Given the description of an element on the screen output the (x, y) to click on. 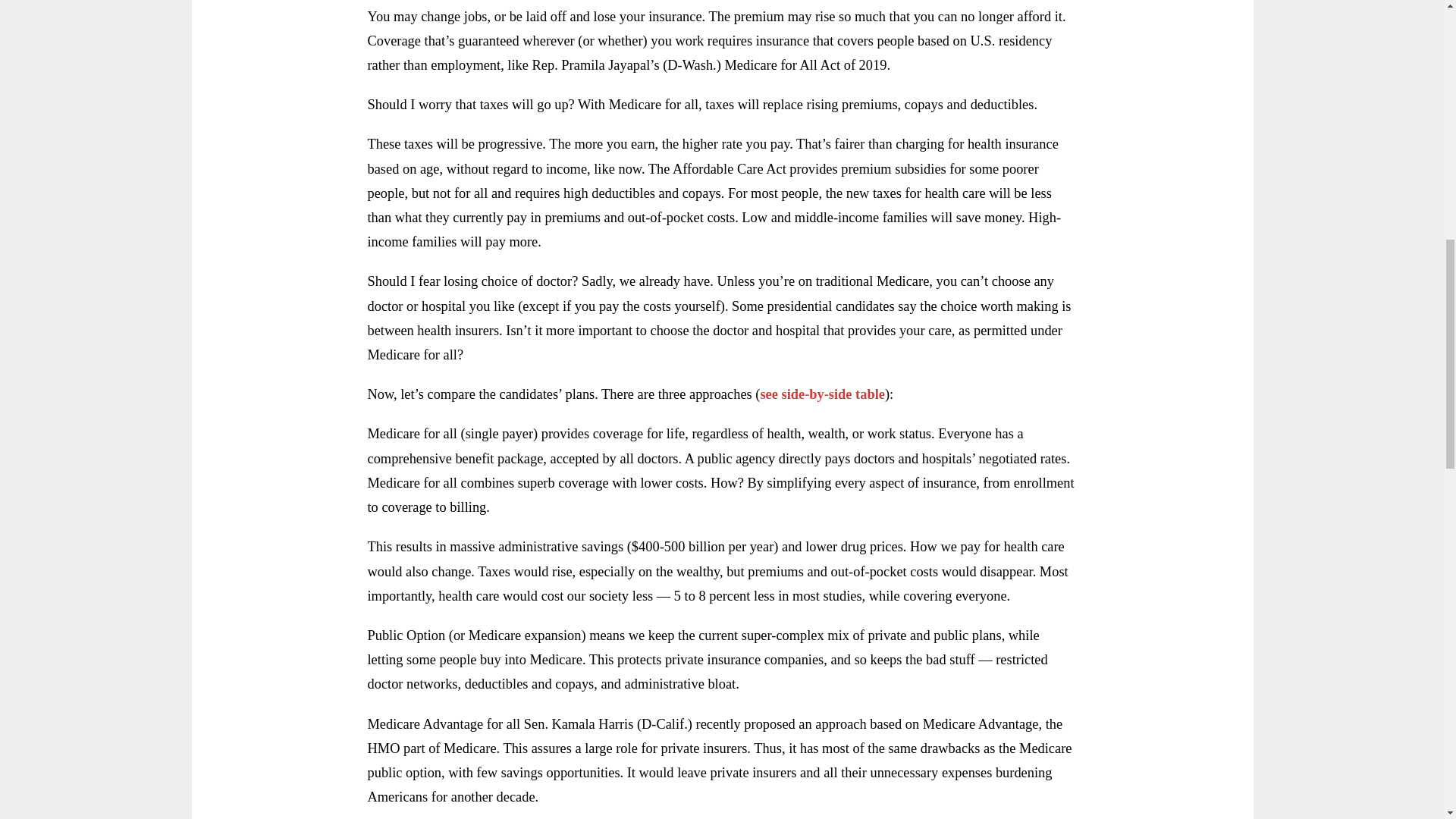
see side-by-side table (821, 394)
